Given the description of an element on the screen output the (x, y) to click on. 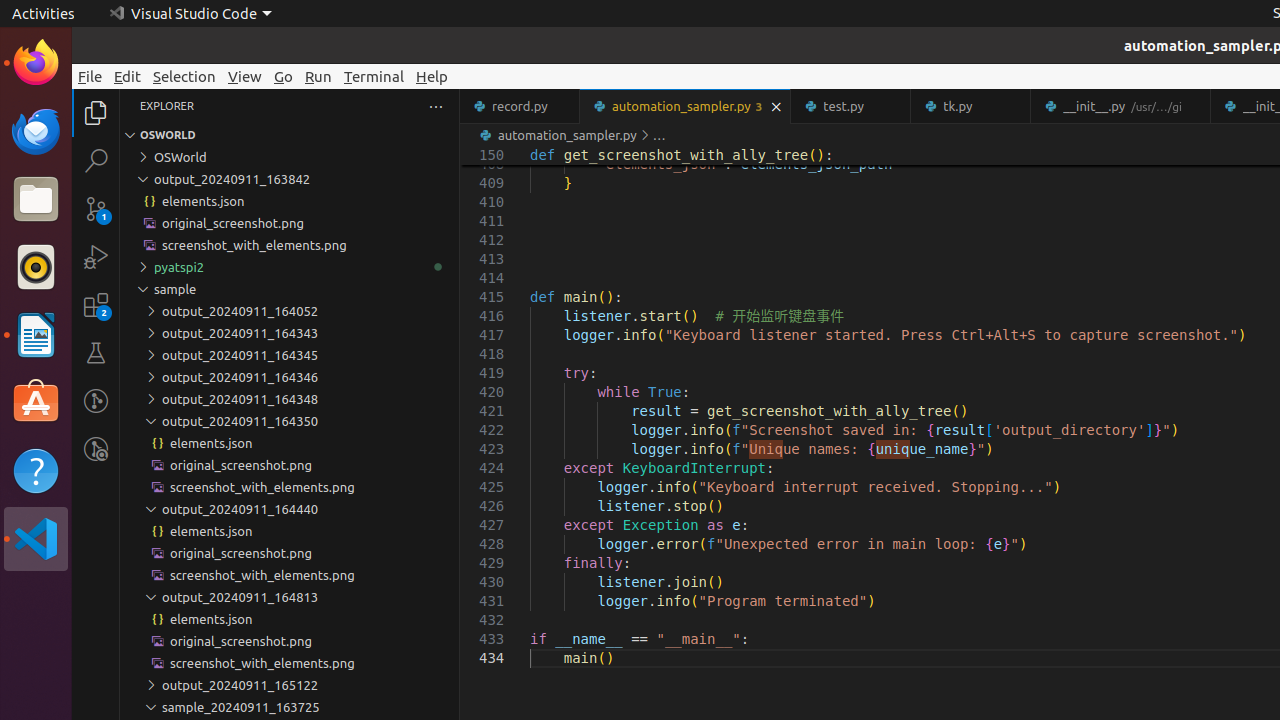
Edit Element type: push-button (127, 76)
sample_20240911_163725 Element type: tree-item (289, 707)
output_20240911_164052 Element type: tree-item (289, 311)
output_20240911_164345 Element type: tree-item (289, 355)
